Given the description of an element on the screen output the (x, y) to click on. 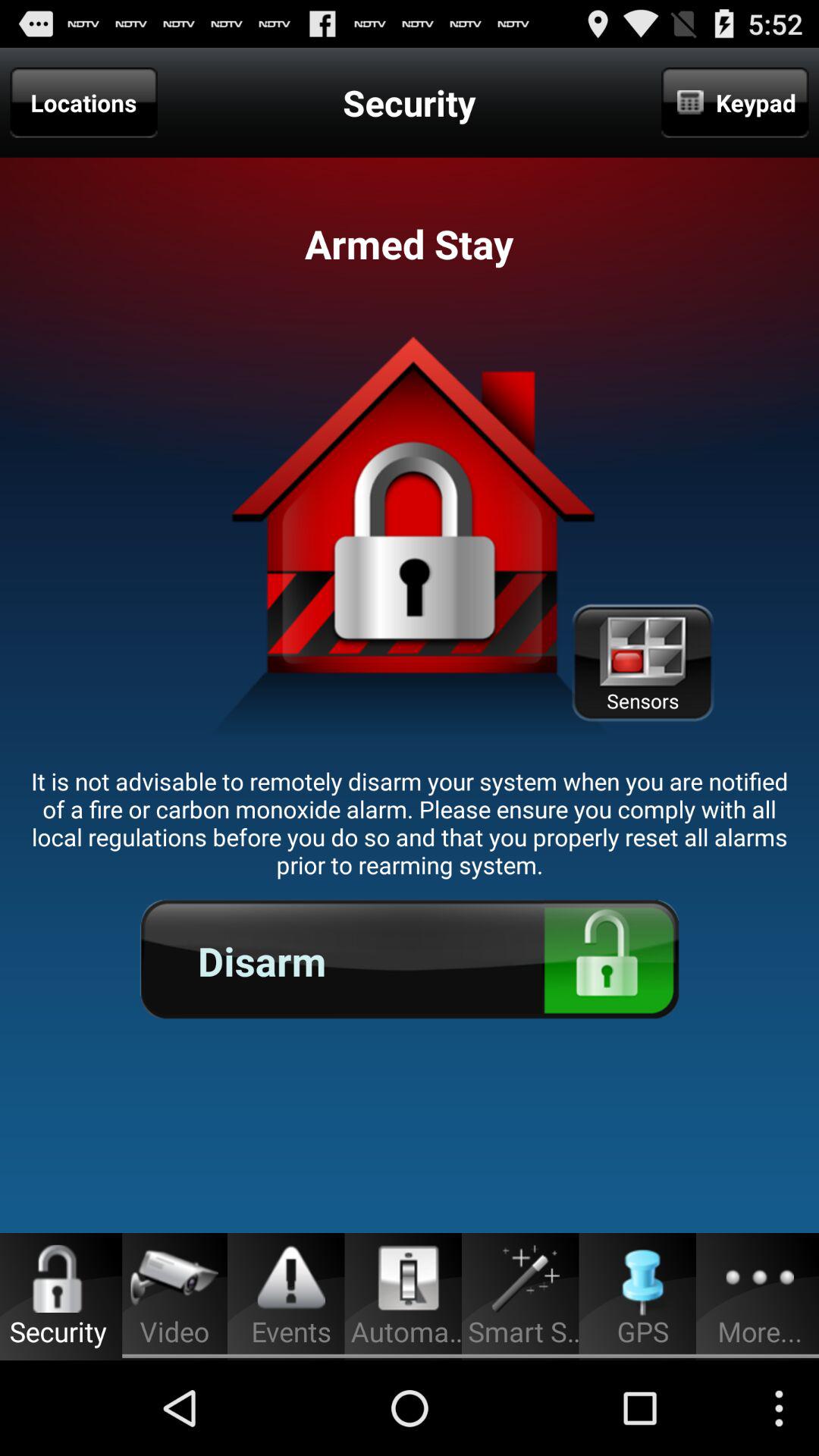
click the item above the it is not app (83, 102)
